Given the description of an element on the screen output the (x, y) to click on. 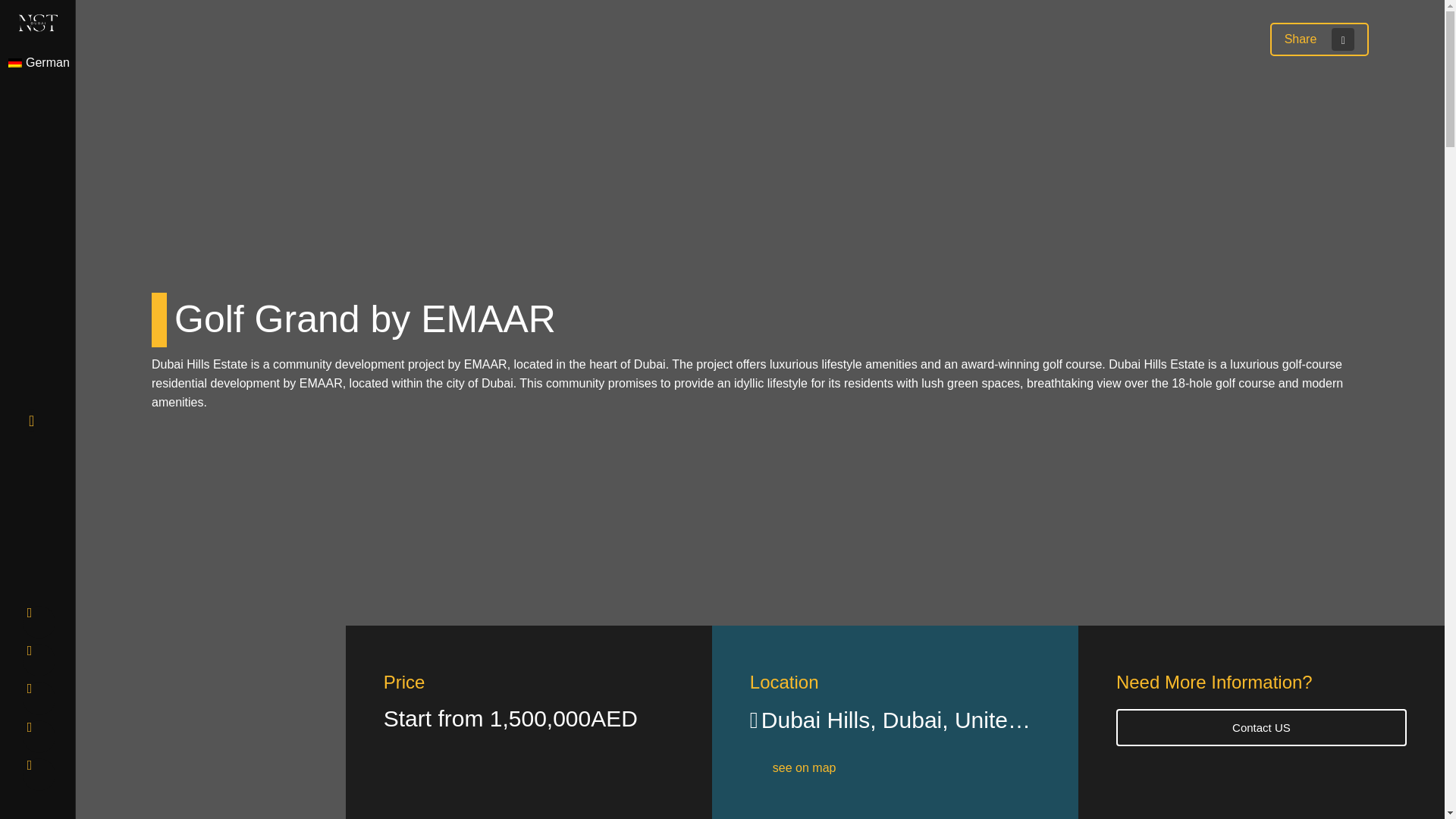
German (14, 62)
NST Logo Dubai white cropped 100 - NST Real Estate Dubai (37, 22)
German (42, 62)
